Given the description of an element on the screen output the (x, y) to click on. 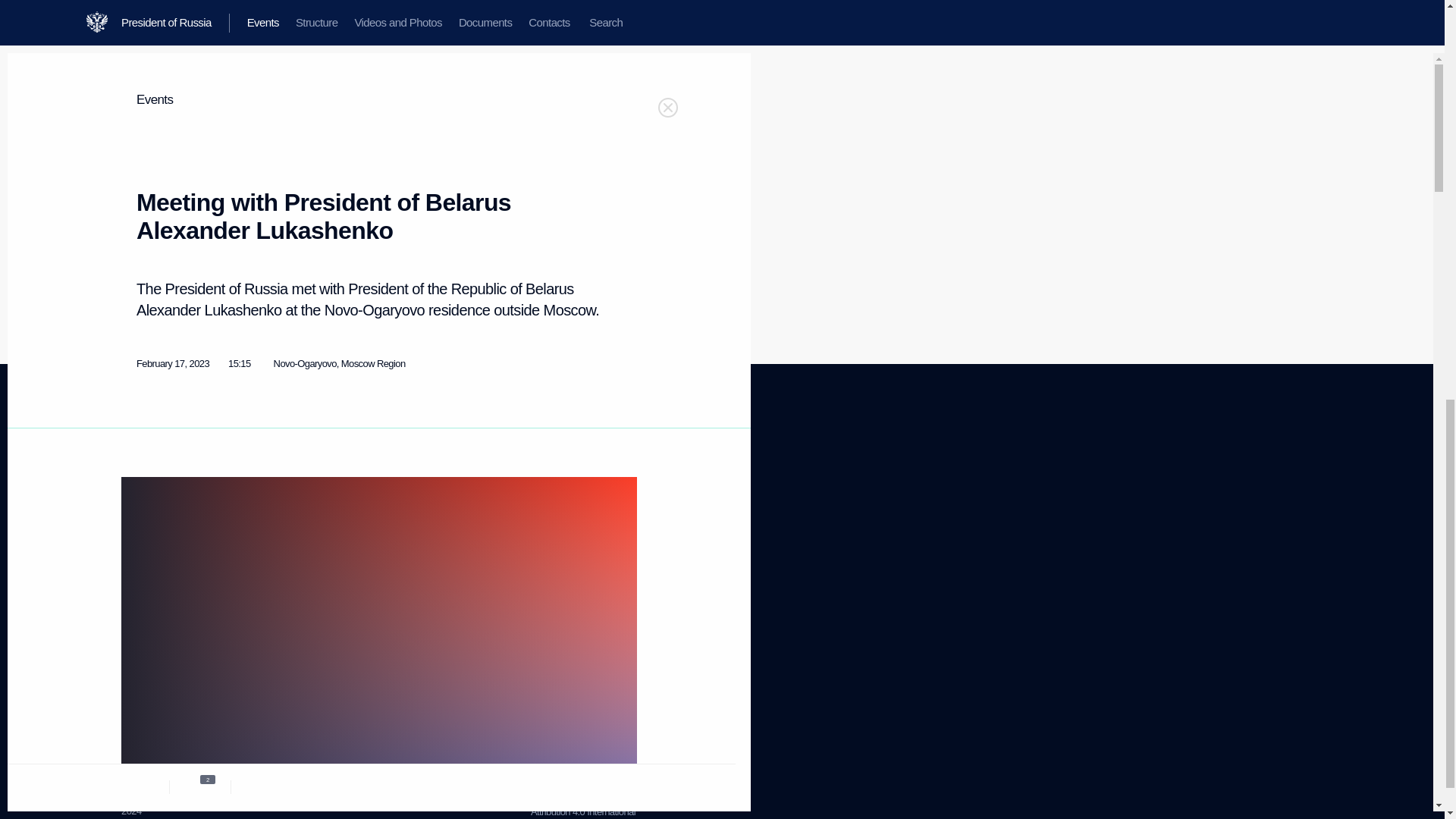
Search (134, 575)
YouTube Channel (429, 514)
About website (558, 480)
For the Media (148, 611)
Telegram Channel (430, 496)
Personal data of website users (579, 525)
The Constitution of Russia (317, 487)
Events (309, 512)
Creative Commons Attribution 4.0 International (134, 480)
Alexander Lukashenko (582, 805)
Videos and Photos (389, 237)
Directory (158, 518)
Using website content (138, 665)
Version for People with Disabilities (574, 500)
